Given the description of an element on the screen output the (x, y) to click on. 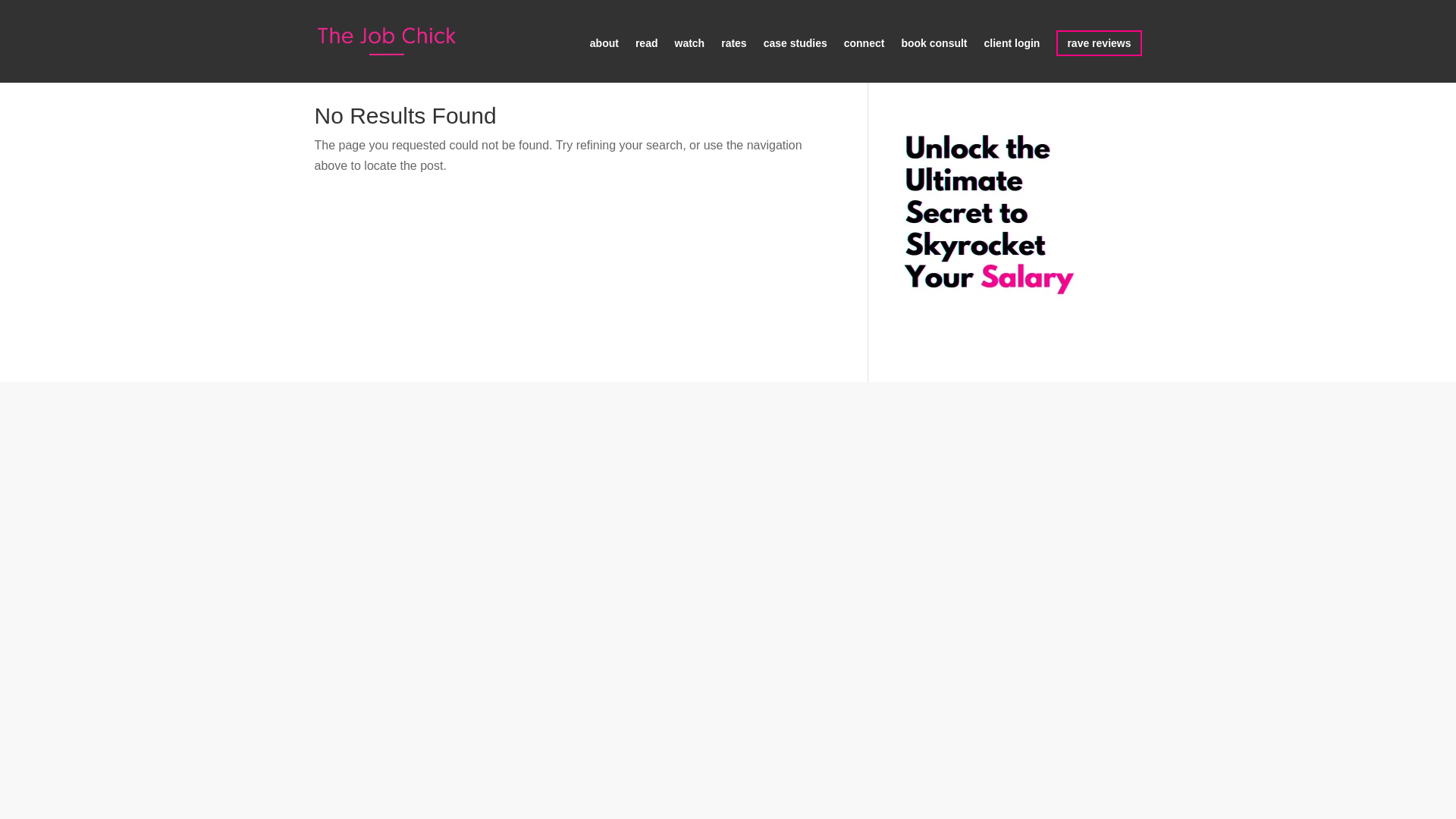
connect (864, 57)
case studies (794, 57)
client login (1012, 57)
rave reviews (1099, 43)
book consult (933, 57)
